Given the description of an element on the screen output the (x, y) to click on. 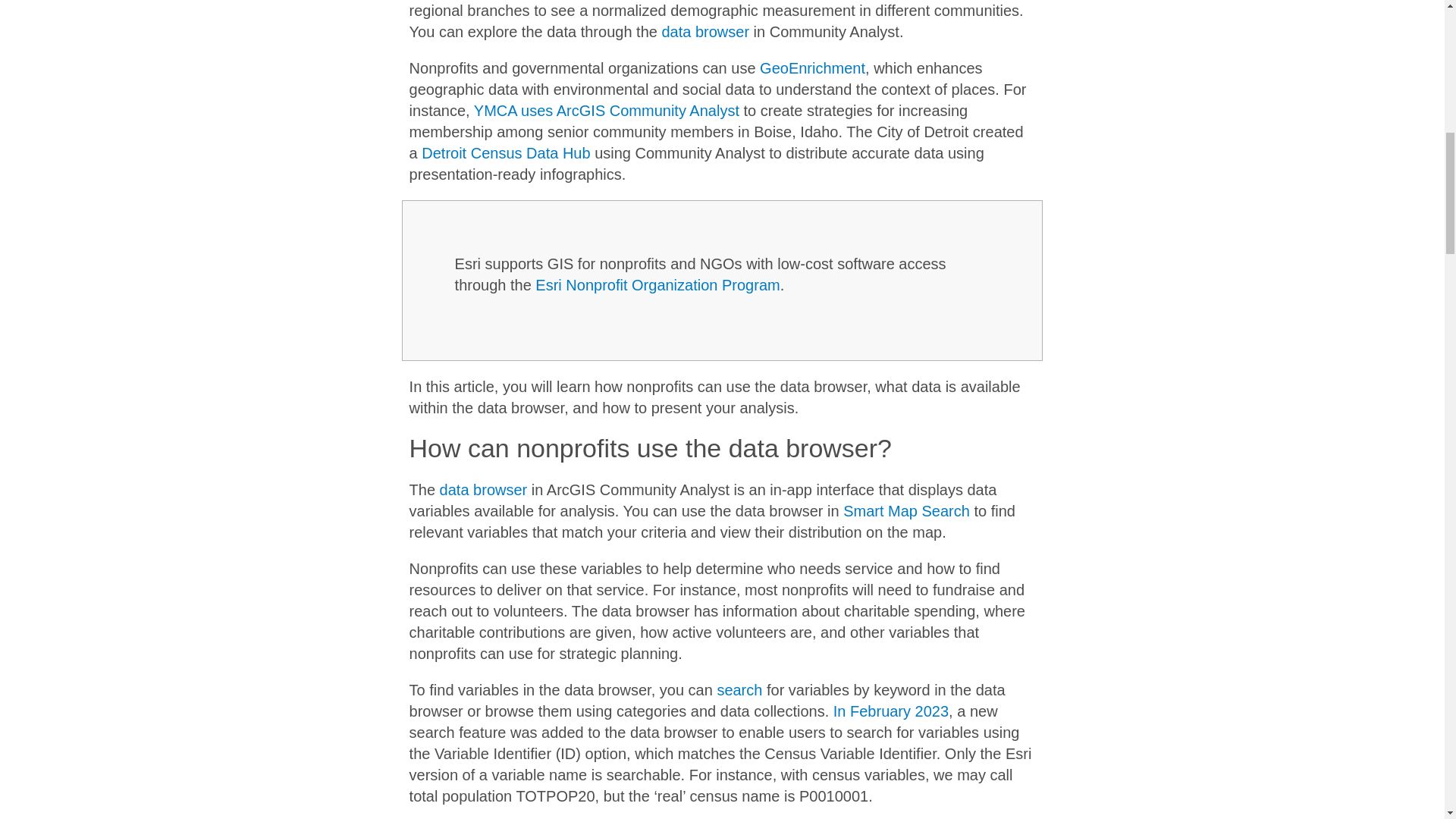
search (738, 689)
Esri Nonprofit Organization Program (656, 284)
GeoEnrichment (812, 67)
In February 2023 (890, 710)
YMCA uses ArcGIS Community Analyst (606, 110)
Detroit Census Data Hub (505, 152)
data browser (483, 489)
data browser (705, 31)
Smart Map Search (906, 510)
